Given the description of an element on the screen output the (x, y) to click on. 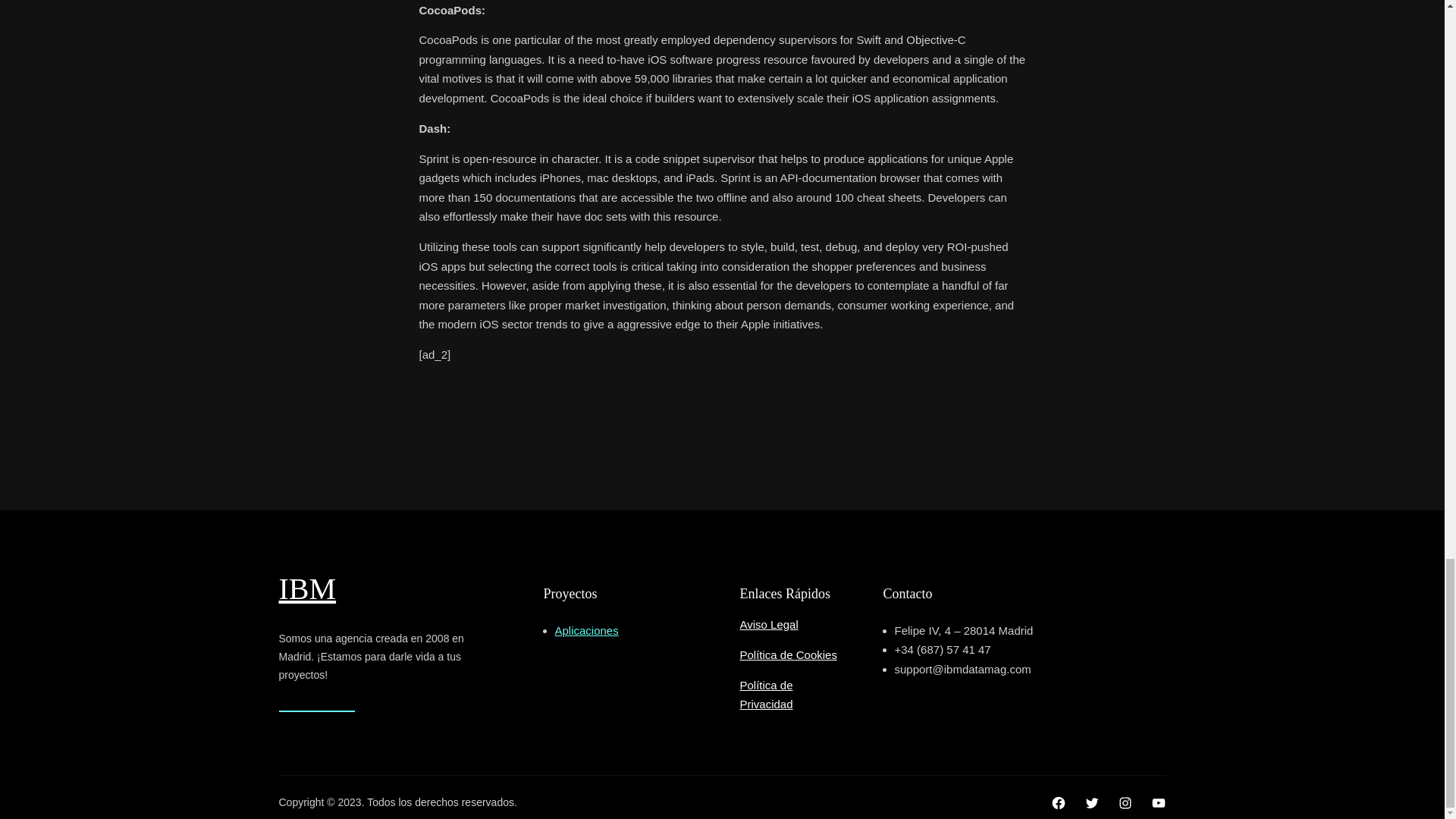
Aplicaciones (586, 630)
Aviso Legal (768, 624)
IBM (307, 588)
